Given the description of an element on the screen output the (x, y) to click on. 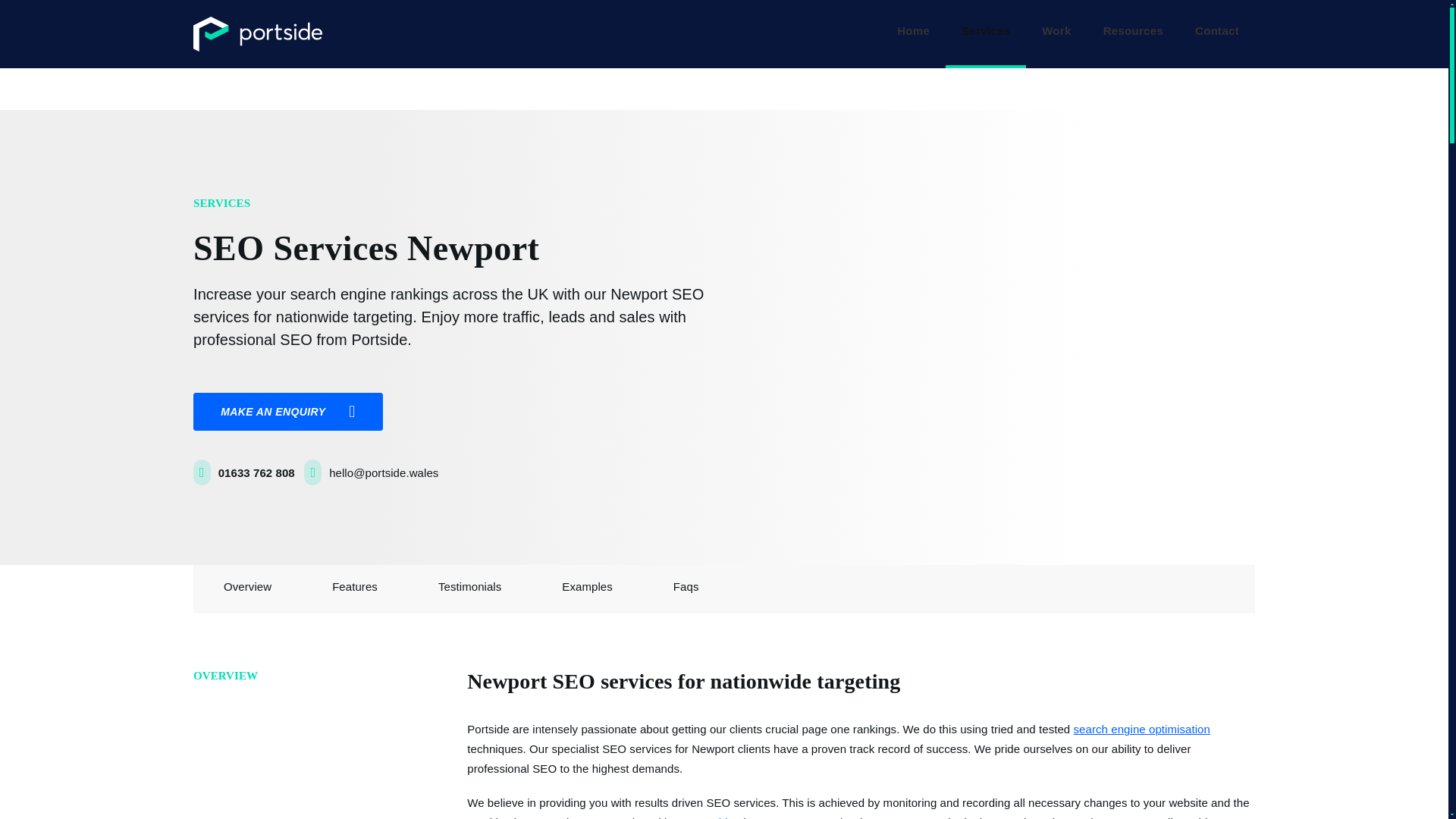
Services (985, 33)
Home (912, 33)
